Given the description of an element on the screen output the (x, y) to click on. 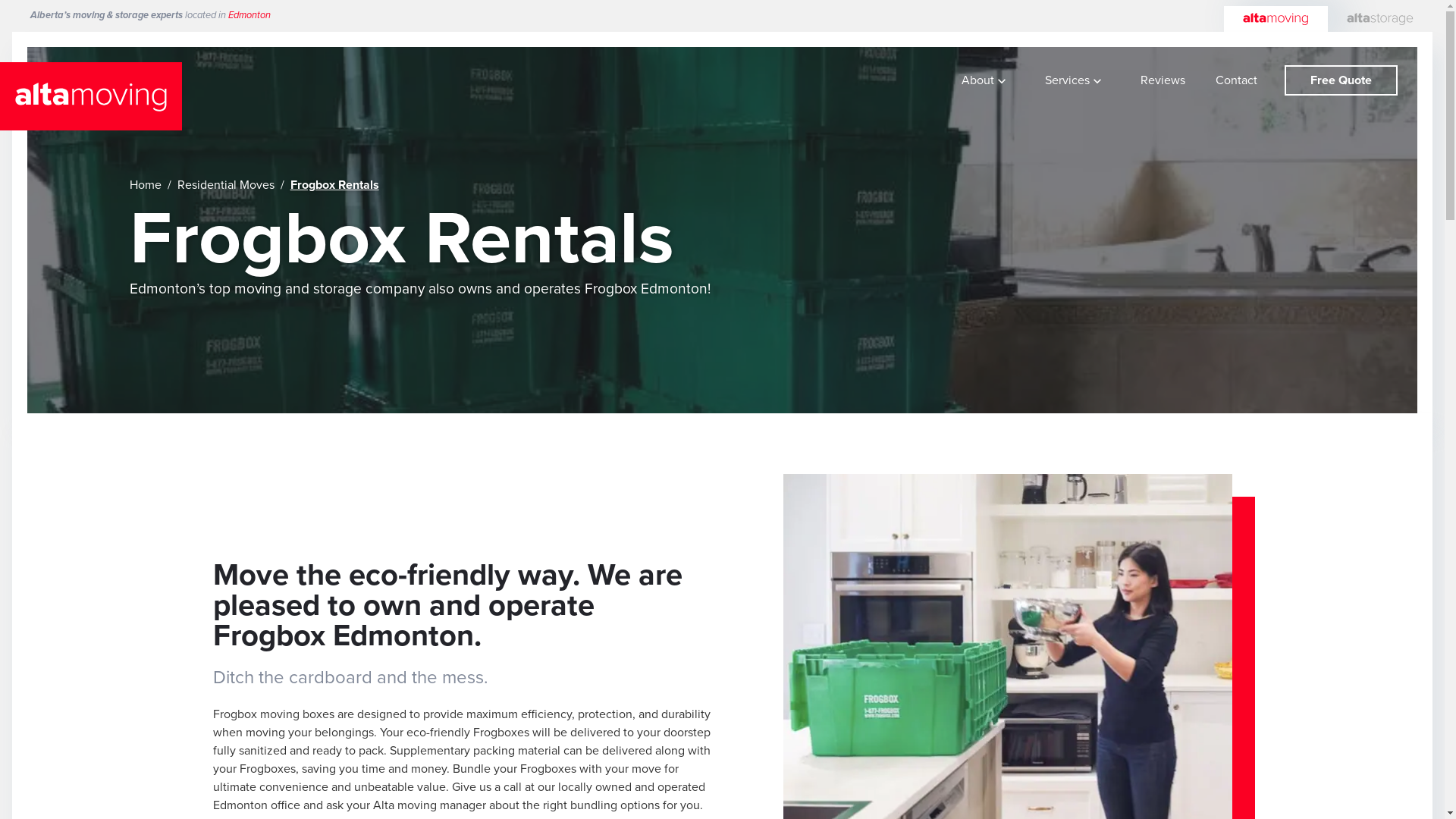
Frogbox Rentals Element type: text (334, 185)
Residential Moves Element type: text (225, 185)
Edmonton Element type: text (249, 15)
Reviews Element type: text (1162, 81)
About Element type: text (985, 81)
Home Element type: text (148, 185)
Contact Element type: text (1236, 81)
Free Quote Element type: text (1340, 80)
